Given the description of an element on the screen output the (x, y) to click on. 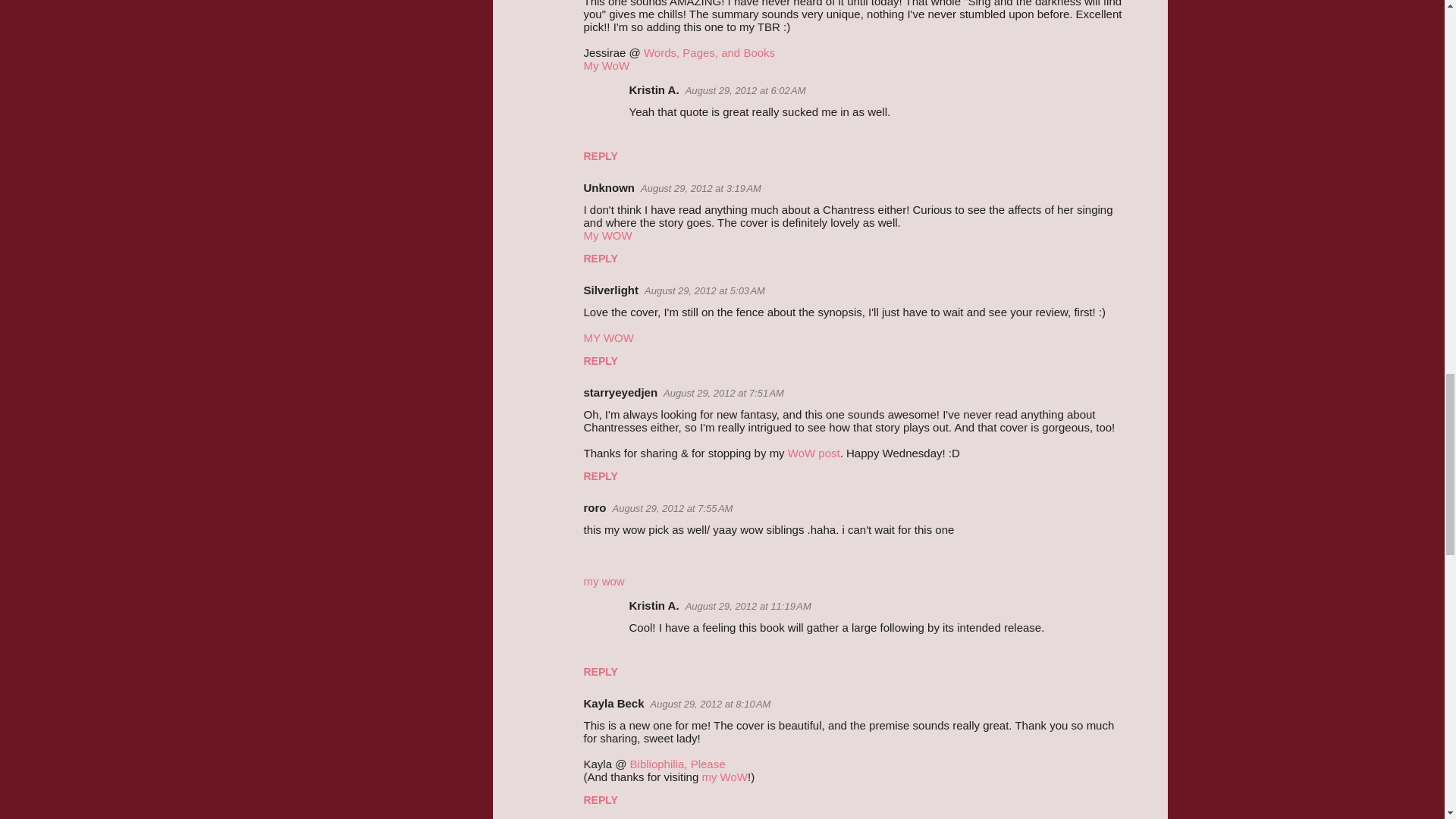
Words, Pages, and Books (708, 51)
Kristin A. (653, 89)
REPLY (600, 155)
My WoW (606, 65)
